Given the description of an element on the screen output the (x, y) to click on. 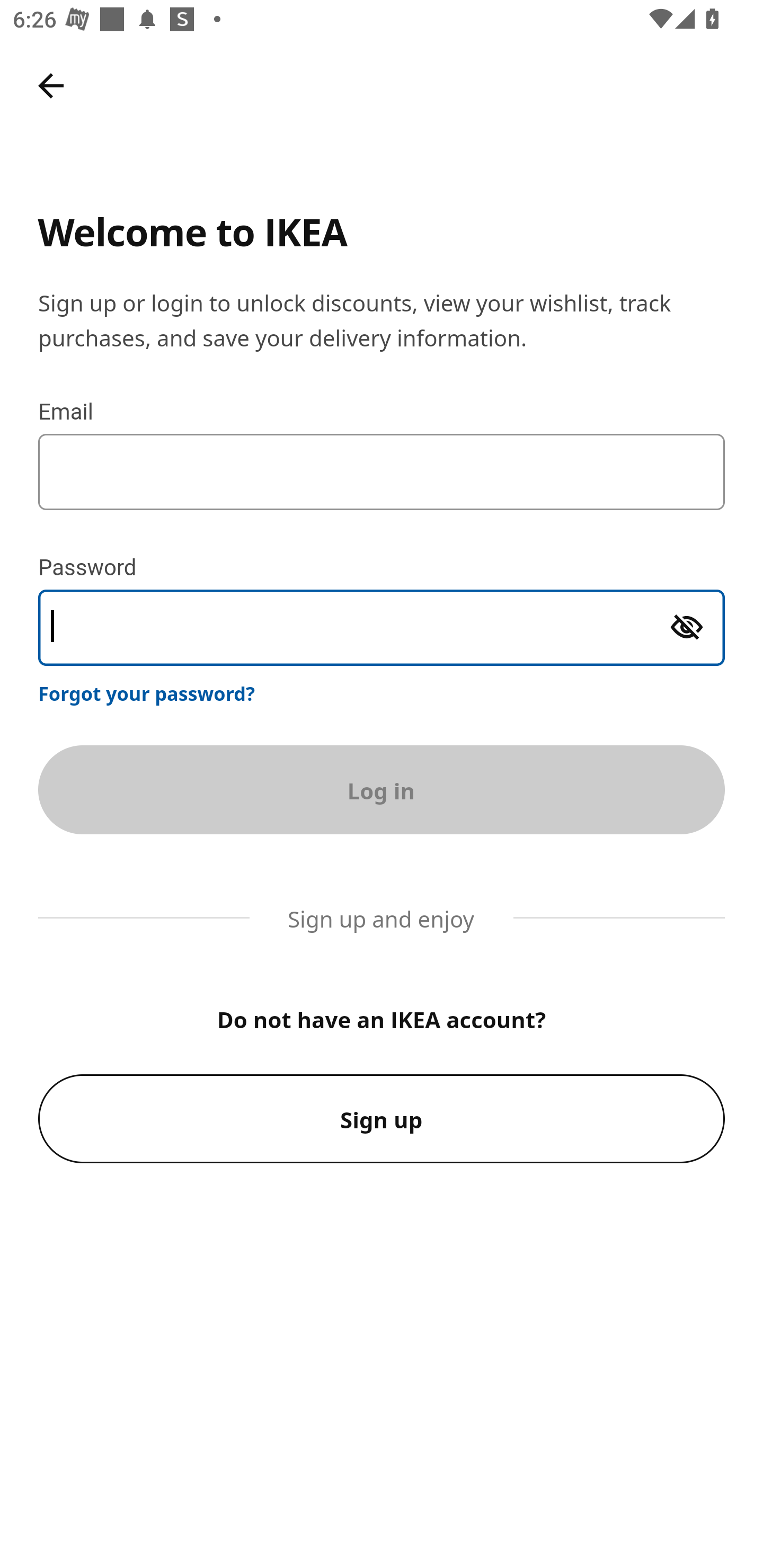
Forgot your password? (146, 692)
Log in (381, 789)
Sign up (381, 1118)
